Given the description of an element on the screen output the (x, y) to click on. 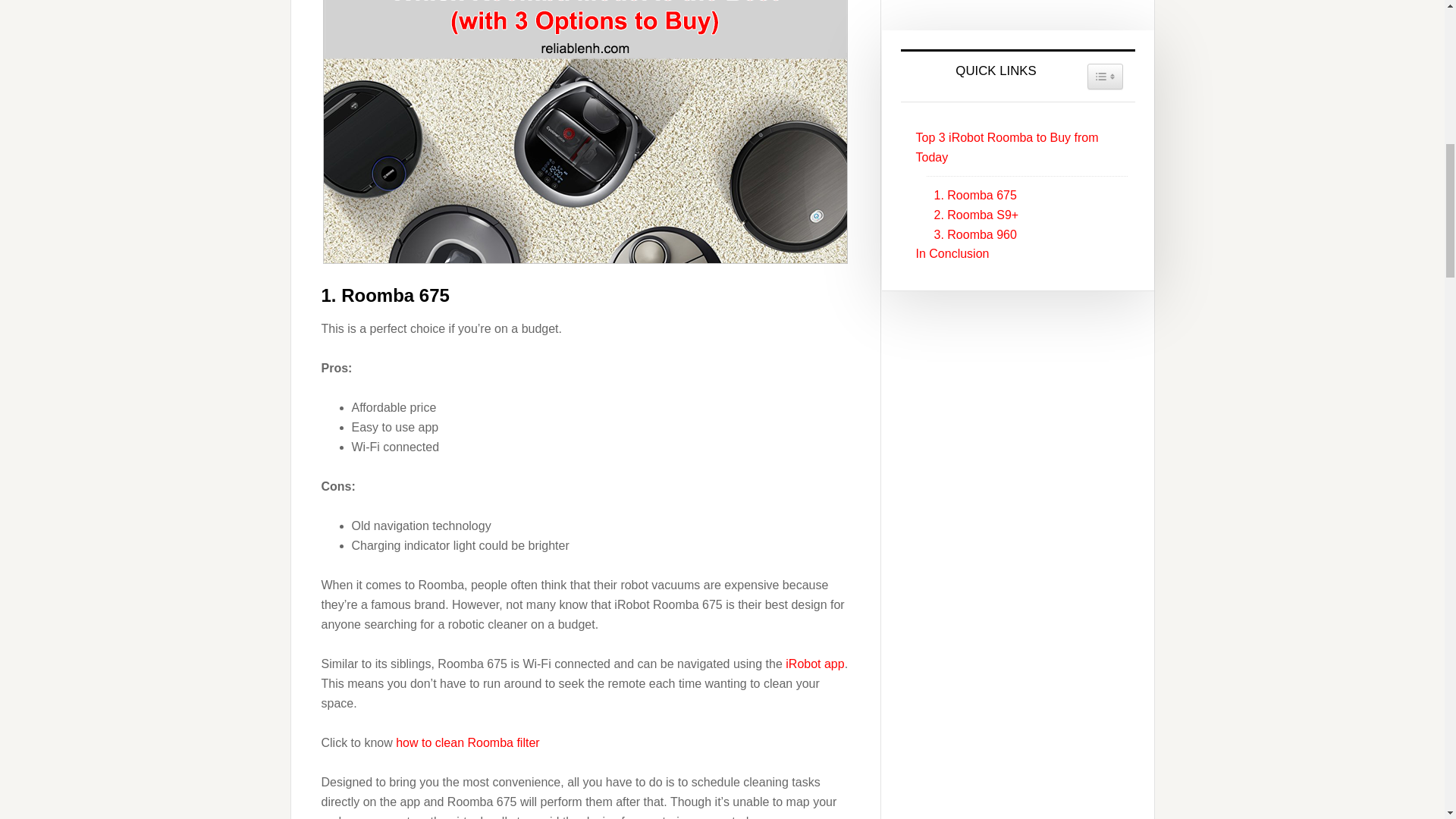
how to clean Roomba filter (467, 742)
iRobot app (815, 663)
